Given the description of an element on the screen output the (x, y) to click on. 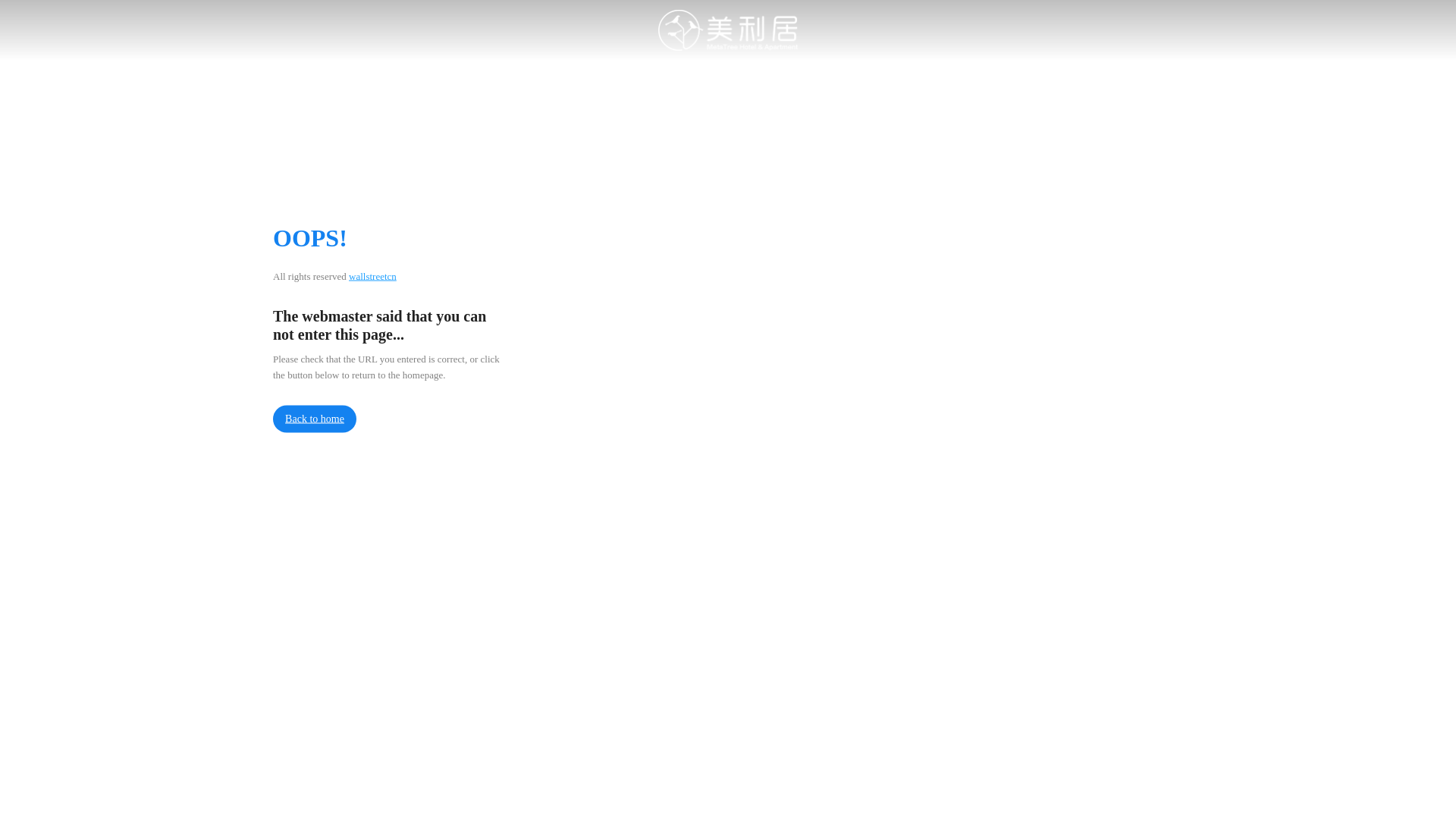
Back to home Element type: text (314, 418)
wallstreetcn Element type: text (372, 275)
